Given the description of an element on the screen output the (x, y) to click on. 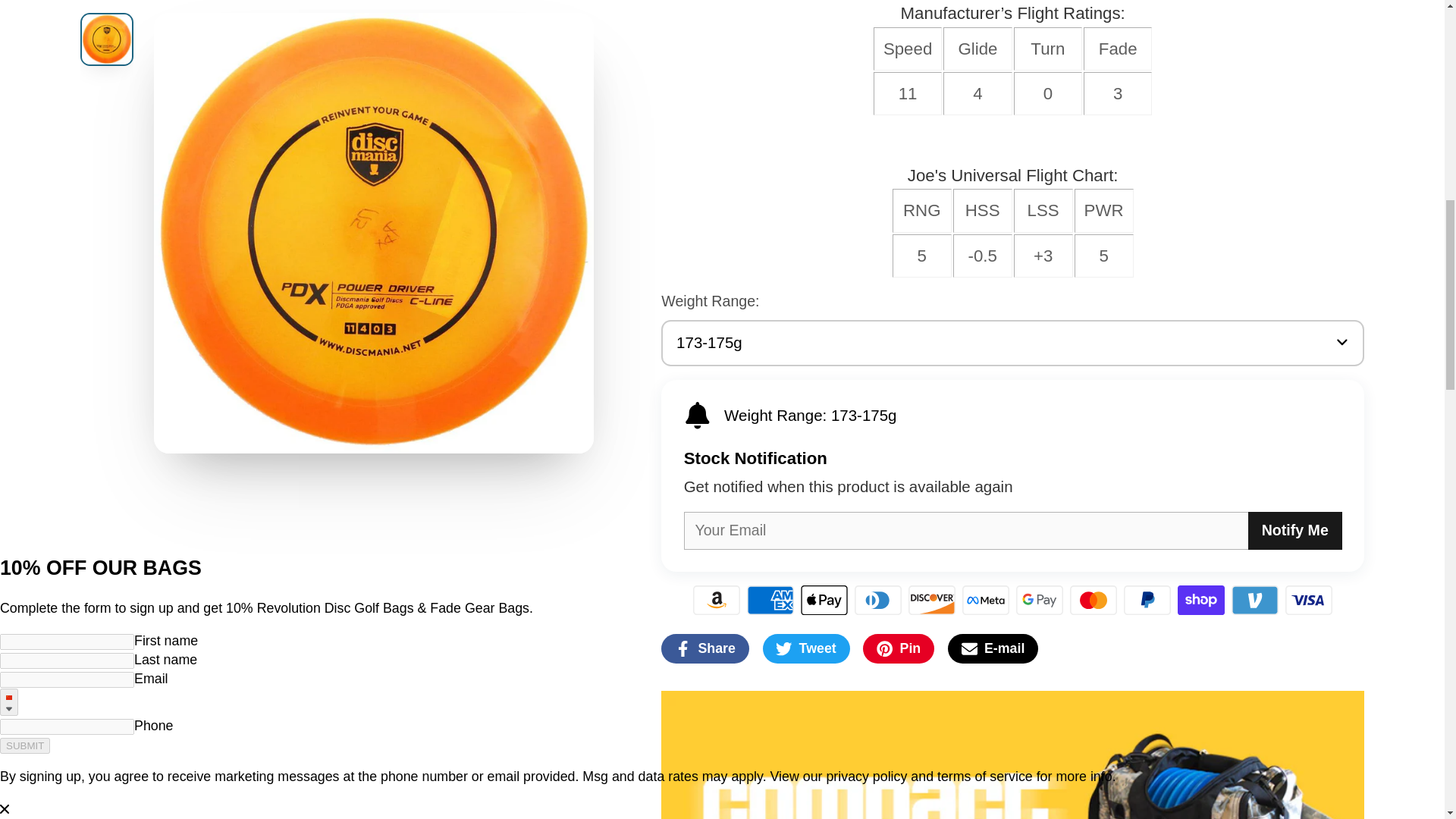
Meta Pay (985, 600)
Google Pay (1039, 600)
Discover (931, 600)
Venmo (1254, 600)
Shop Pay (1200, 600)
Diners Club (877, 600)
Amazon (716, 600)
Mastercard (1093, 600)
Visa (1308, 600)
American Express (769, 600)
Apple Pay (823, 600)
PayPal (1147, 600)
